Given the description of an element on the screen output the (x, y) to click on. 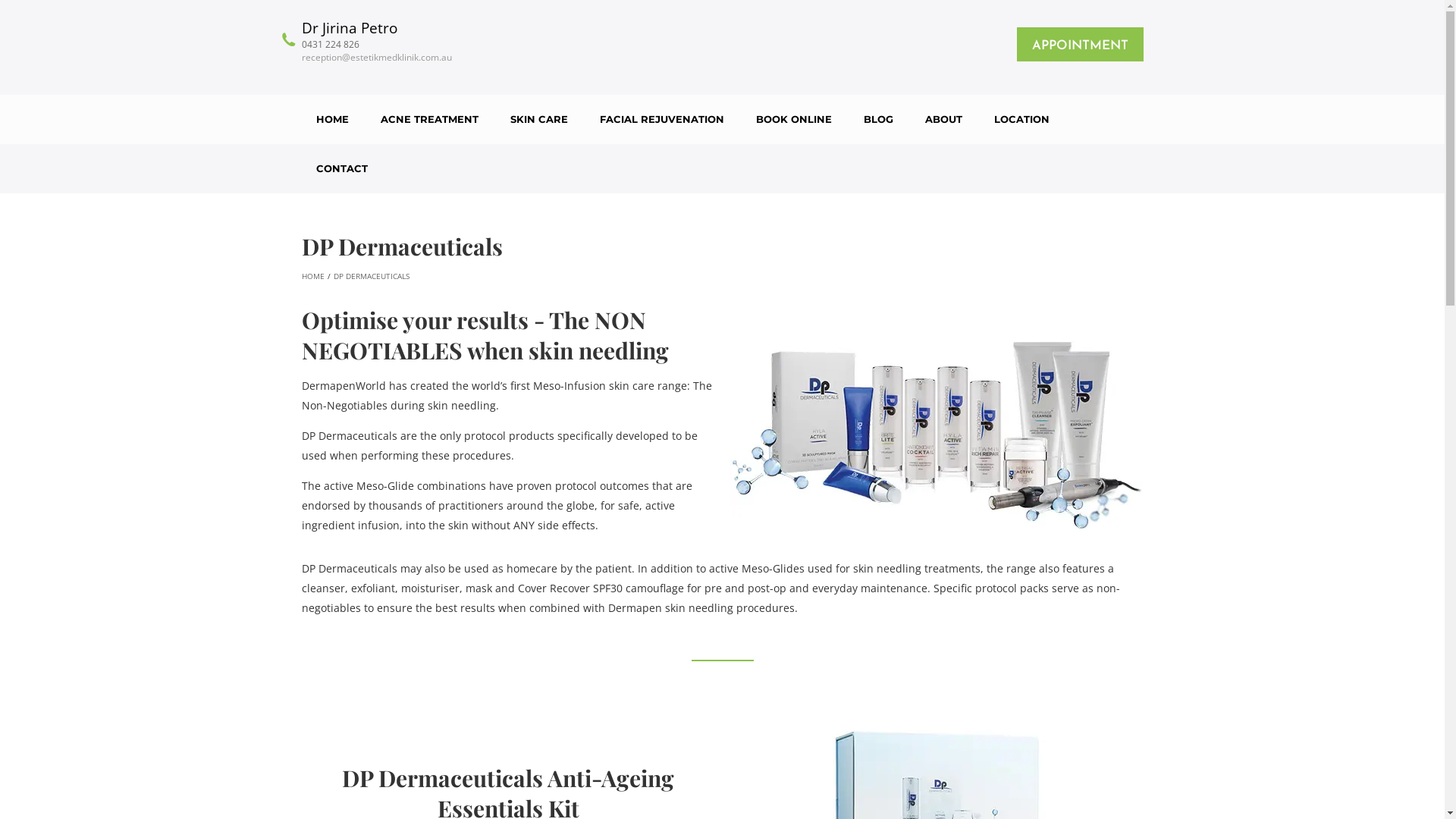
FACIAL REJUVENATION Element type: text (661, 119)
BOOK ONLINE Element type: text (793, 119)
LOCATION Element type: text (1021, 119)
0431 224 826 Element type: text (376, 43)
HOME Element type: text (312, 275)
HOME Element type: text (332, 119)
Estetik MedKlinik Element type: hover (721, 47)
CONTACT Element type: text (341, 168)
APPOINTMENT Element type: text (1079, 44)
ACNE TREATMENT Element type: text (428, 119)
DP DERMACEUTICALS Element type: text (371, 275)
reception@estetikmedklinik.com.au Element type: text (376, 56)
BLOG Element type: text (878, 119)
ABOUT Element type: text (942, 119)
SKIN CARE Element type: text (538, 119)
